Given the description of an element on the screen output the (x, y) to click on. 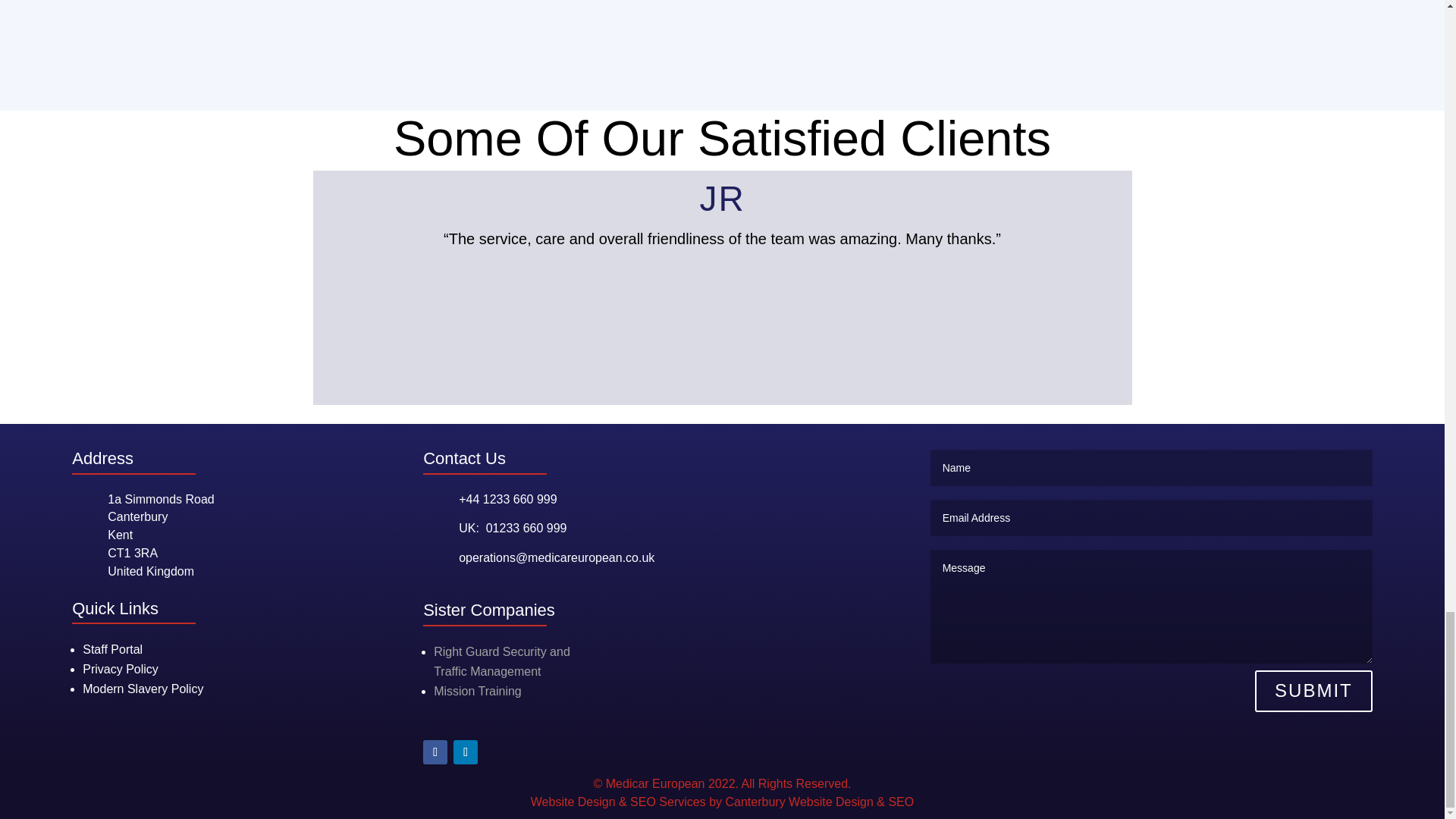
SUBMIT (1314, 690)
flags (722, 22)
Follow on LinkedIn (464, 752)
Follow on Facebook (434, 752)
Mission Training (477, 690)
Modern Slavery Policy (142, 688)
Privacy Policy (501, 661)
jjjj (120, 668)
Staff Portal (122, 733)
